Given the description of an element on the screen output the (x, y) to click on. 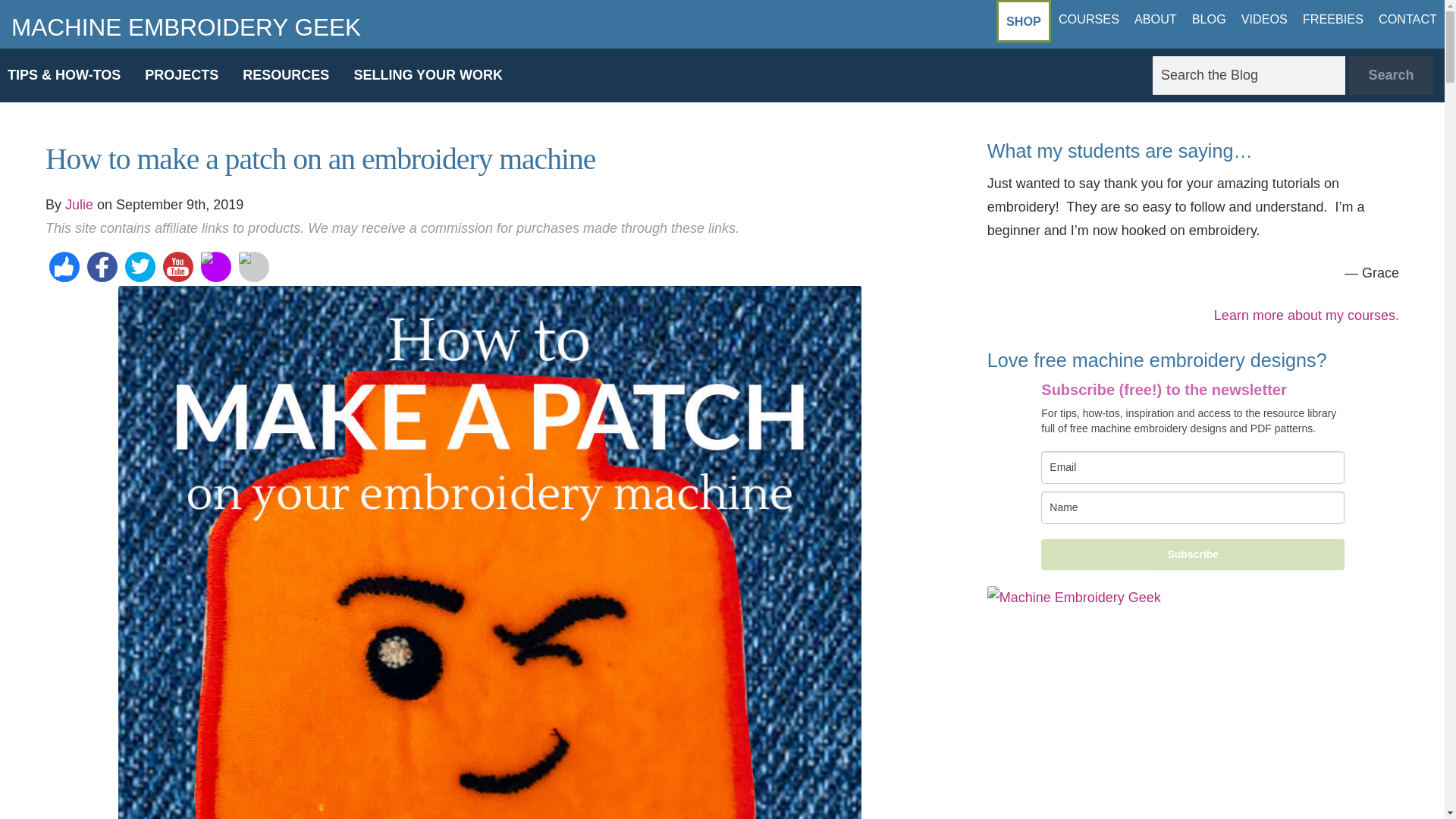
RESOURCES (285, 75)
Julie (79, 204)
BLOG (1209, 18)
ABOUT (1155, 18)
Search the Blog (1249, 75)
VIDEOS (1264, 18)
PROJECTS (180, 75)
Posts by Julie (79, 204)
FREEBIES (1333, 18)
Search (1390, 75)
